Given the description of an element on the screen output the (x, y) to click on. 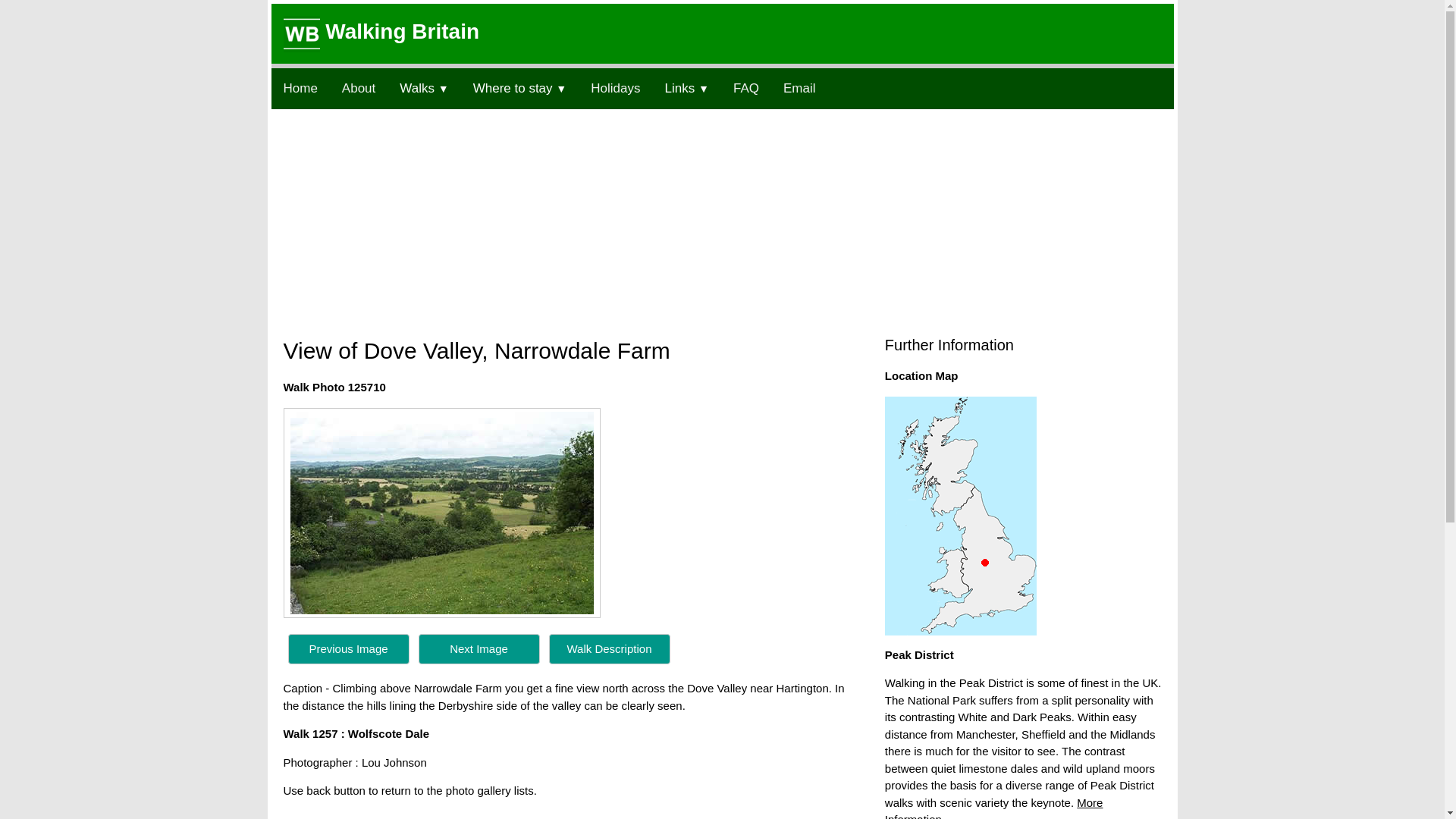
Walk Description (608, 649)
Holidays (615, 87)
Next Image (479, 649)
FAQ (745, 87)
Home (300, 87)
Email (799, 87)
Previous Image (348, 647)
About (358, 87)
Previous Image (348, 649)
Walk Description (609, 647)
Next Image (478, 647)
More Information (994, 807)
